Given the description of an element on the screen output the (x, y) to click on. 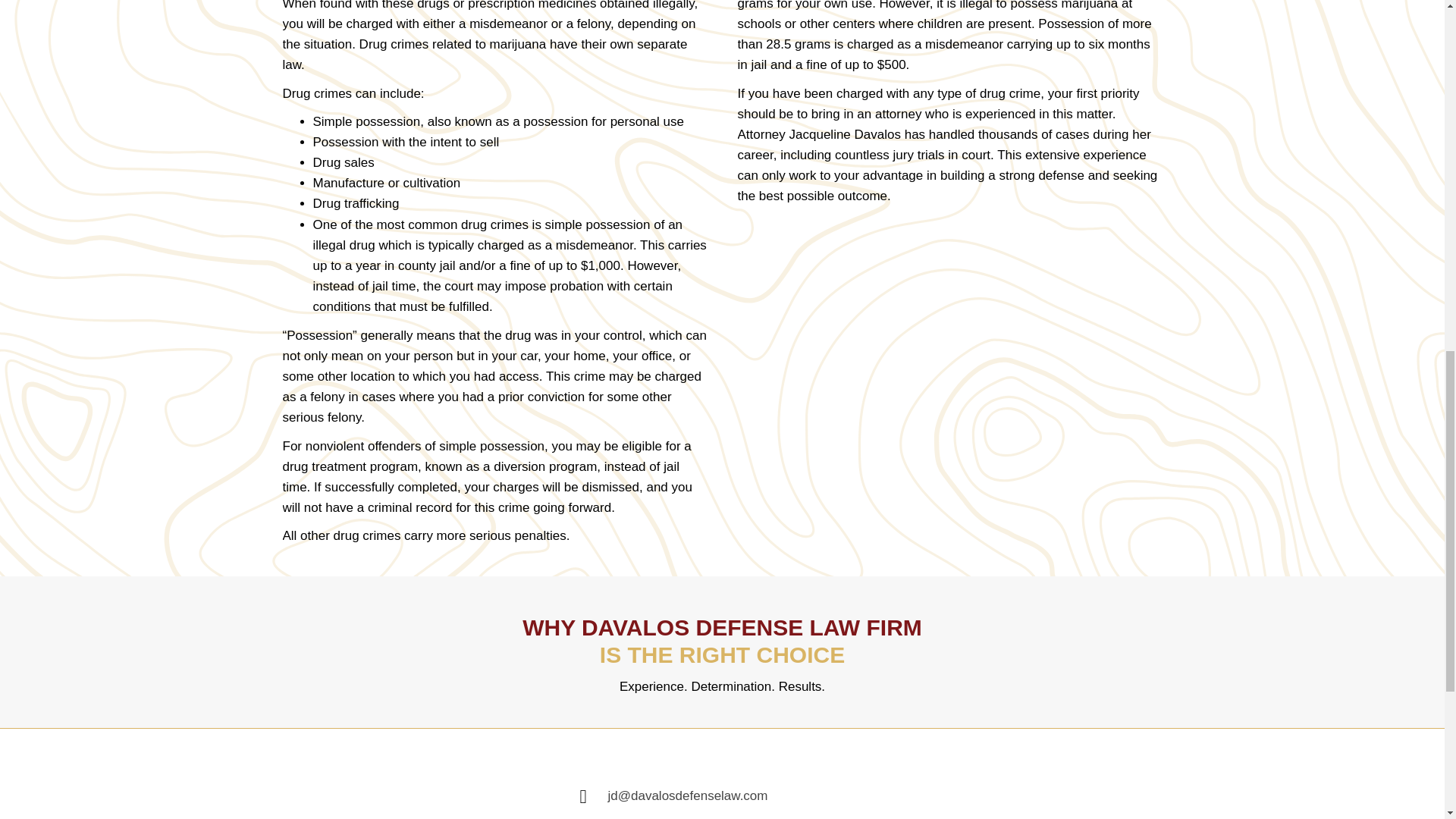
Logo.2110011047154-removebg-preview (376, 783)
